Given the description of an element on the screen output the (x, y) to click on. 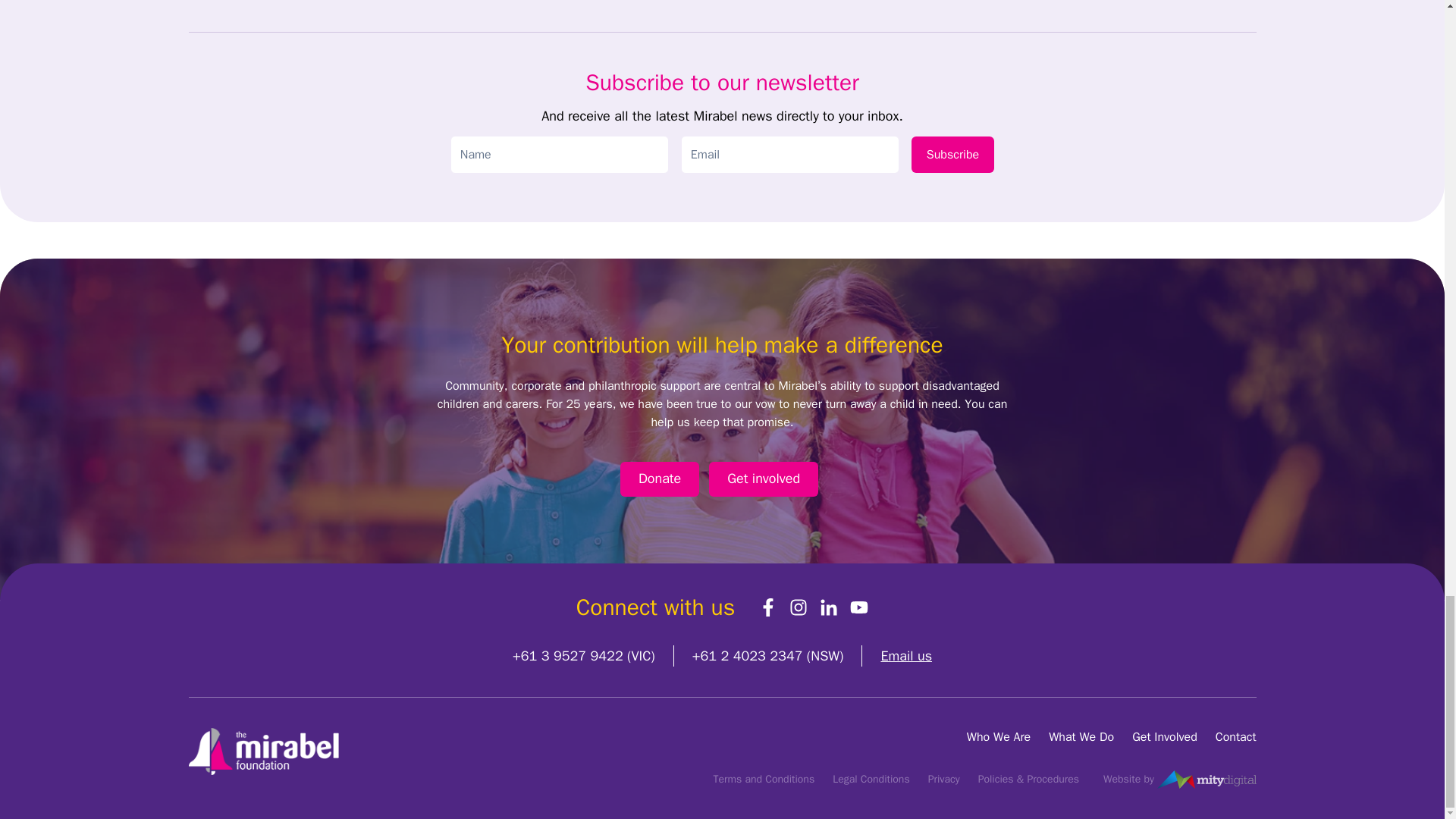
Subscribe (952, 154)
Donate (659, 478)
